Given the description of an element on the screen output the (x, y) to click on. 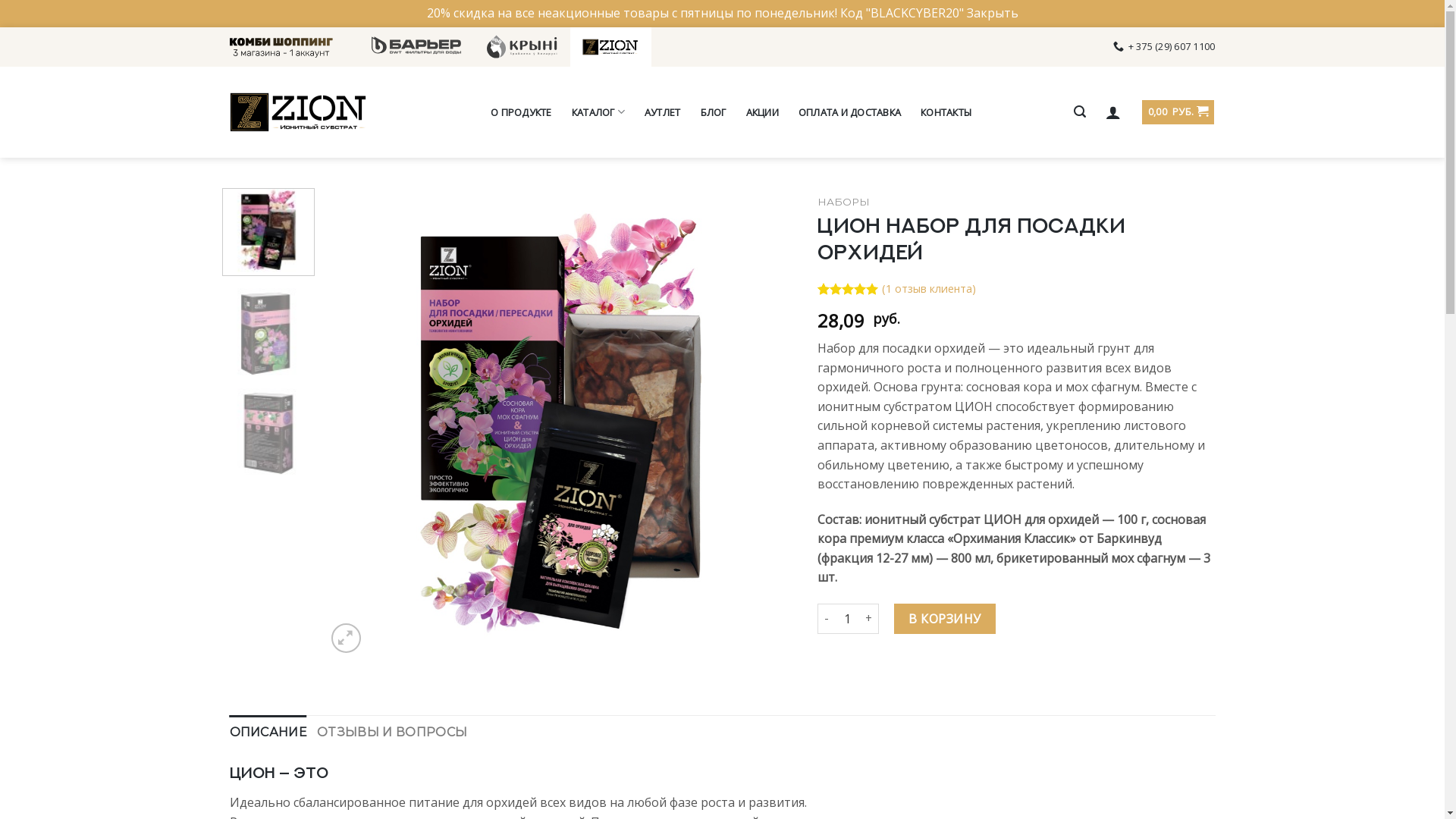
ZION Element type: hover (297, 111)
Skip to content Element type: text (0, 27)
+ 375 (29) 607 1100 Element type: text (1163, 45)
